Given the description of an element on the screen output the (x, y) to click on. 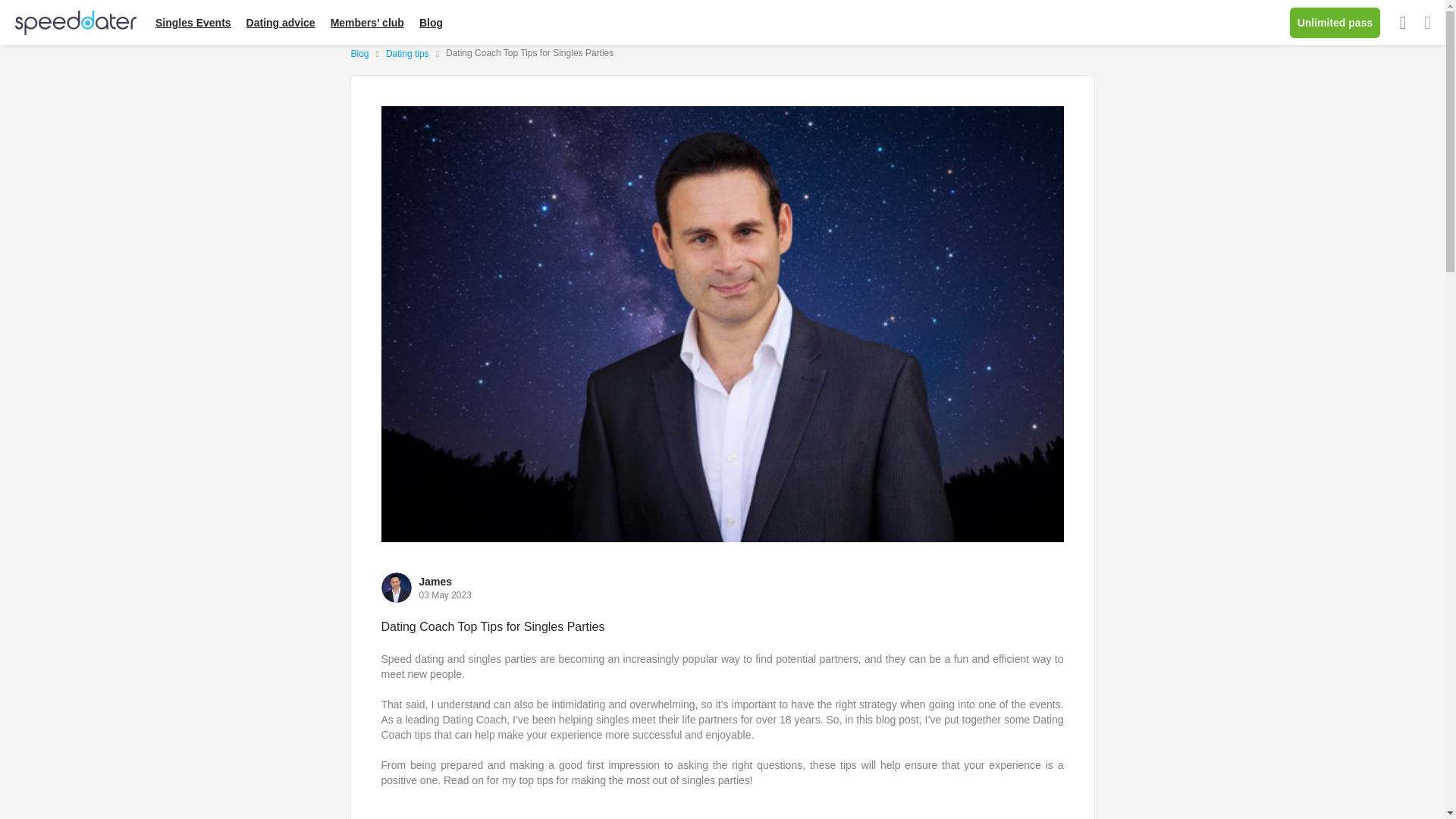
Blog (359, 53)
Blog (430, 22)
Dating advice (280, 22)
Unlimited pass (1335, 22)
Singles Events (193, 22)
Dating tips (407, 53)
